Given the description of an element on the screen output the (x, y) to click on. 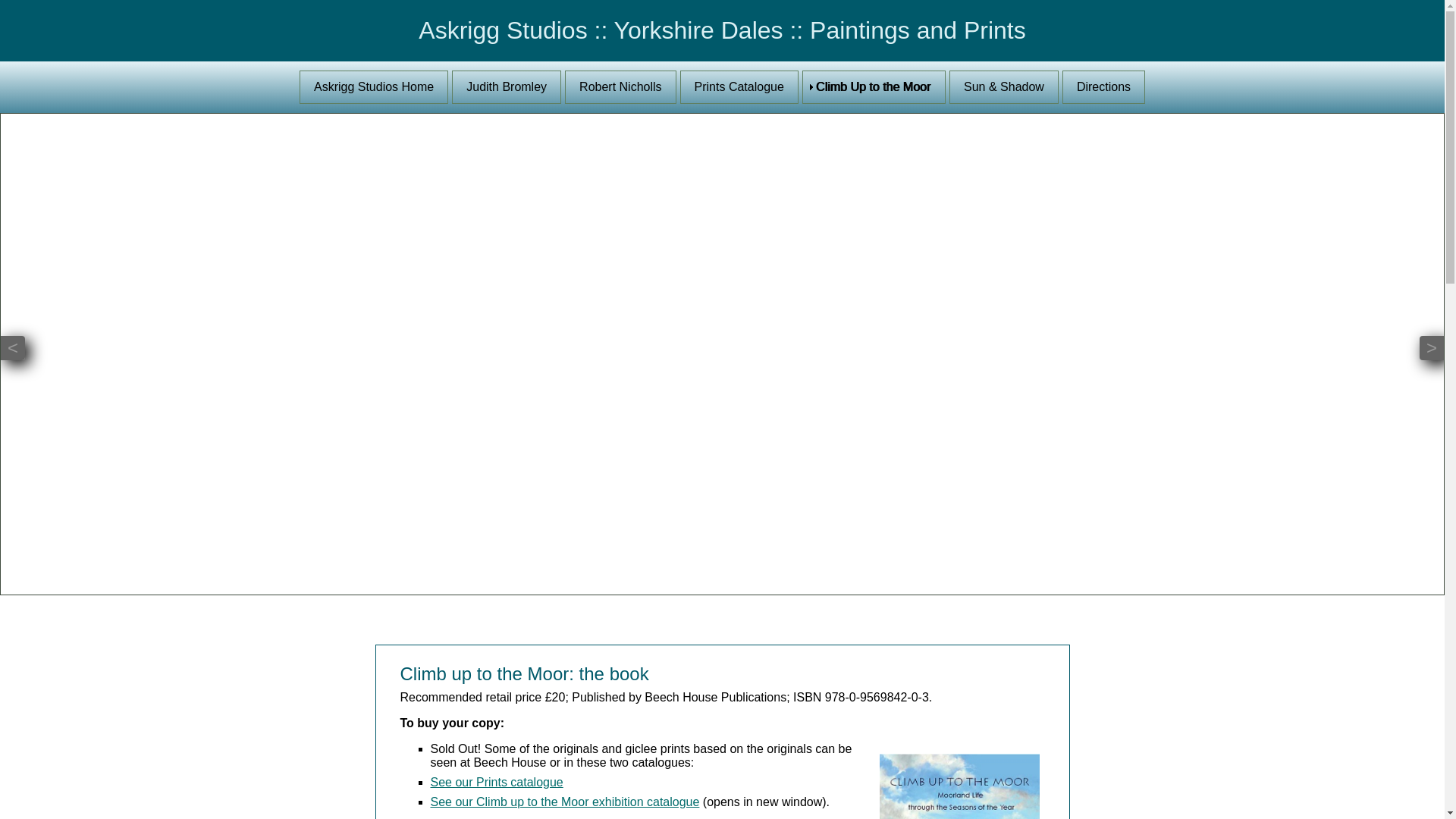
Our prints catalogue: 3.31MB PDF - opens in new window (738, 87)
See our Climb up to the Moor exhibition catalogue (565, 801)
Judith Bromley (505, 87)
Catalogue for the touring exhibition of Climb Up to the Moor (565, 801)
See our Prints catalogue (496, 781)
Directions (1103, 87)
Askrigg Studios Home (373, 87)
Sun  Shadow (1003, 87)
Home page of Askrigg Studios Yorkshire Dales Art (373, 87)
Climb Up to the Moor - the book (873, 87)
